Given the description of an element on the screen output the (x, y) to click on. 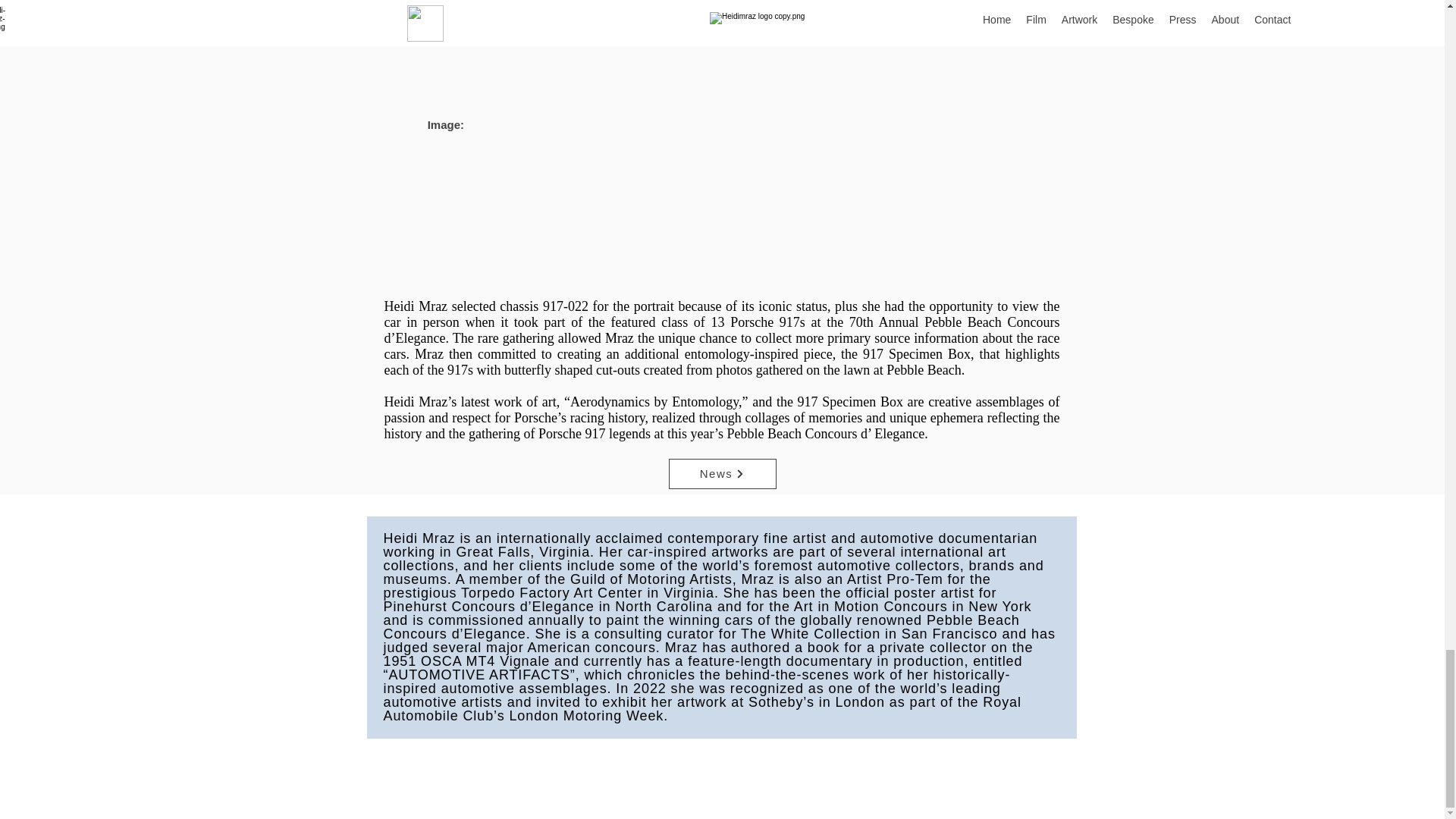
News (722, 473)
